Given the description of an element on the screen output the (x, y) to click on. 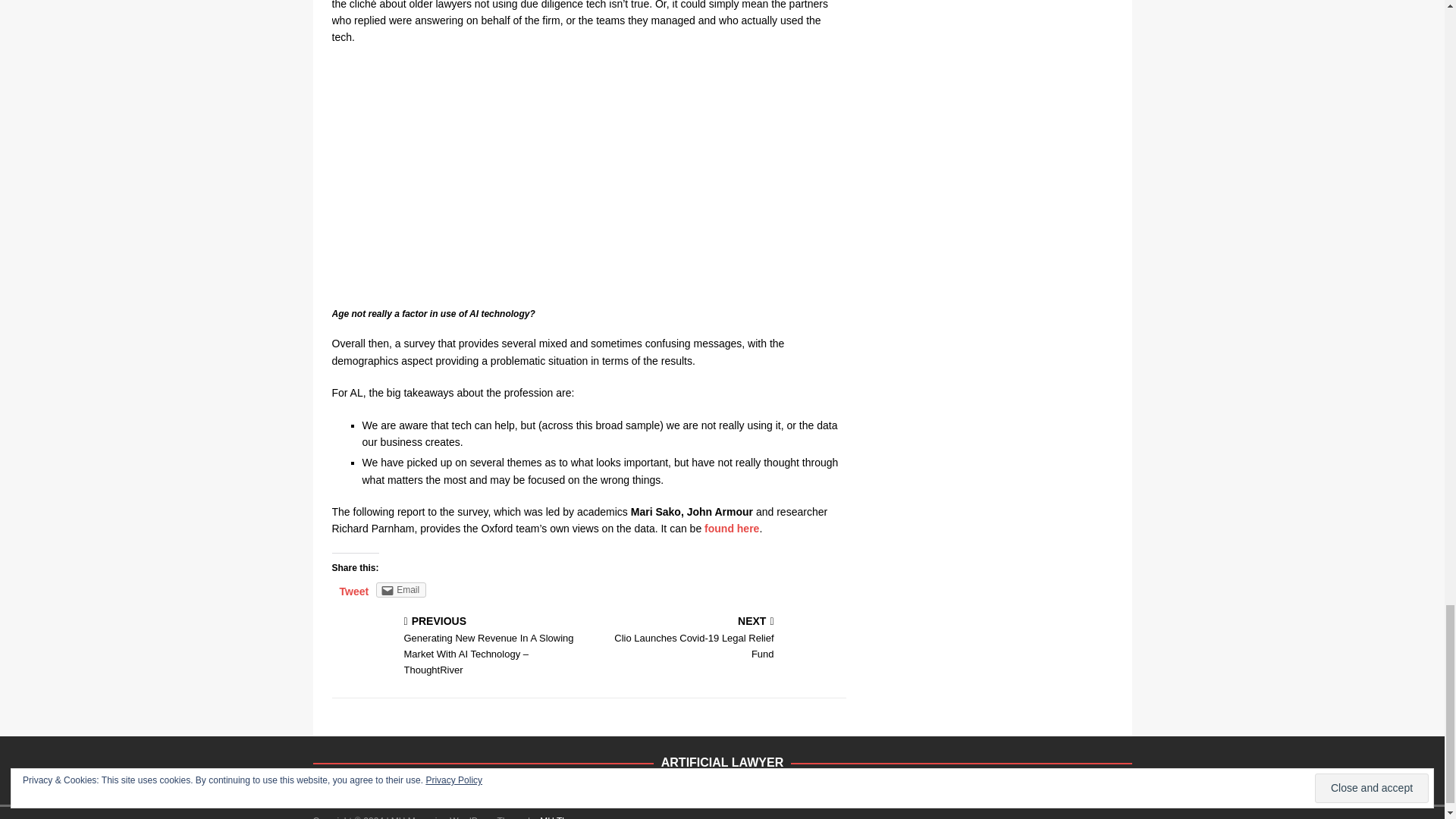
Click to email a link to a friend (400, 589)
Tweet (354, 591)
Email (400, 589)
MH Themes (564, 817)
Premium WordPress Themes (564, 817)
found here (720, 638)
